Given the description of an element on the screen output the (x, y) to click on. 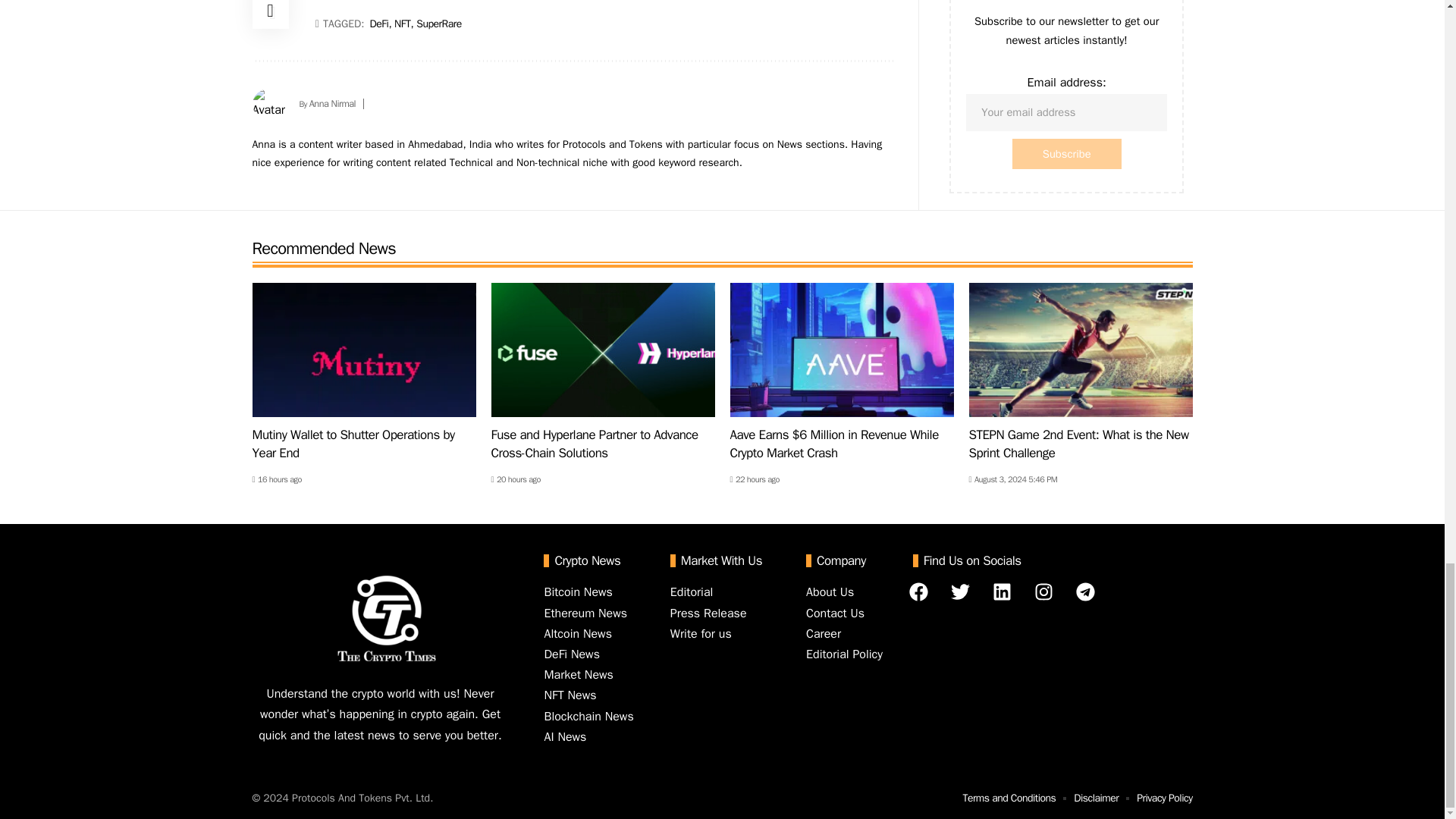
Mutiny Wallet to Shutter Operations by Year End (363, 348)
STEPN Game 2nd Event: What is the New Sprint Challenge (1080, 348)
Fuse and Hyperlane Partner to Advance Cross-Chain Solutions (603, 348)
